Given the description of an element on the screen output the (x, y) to click on. 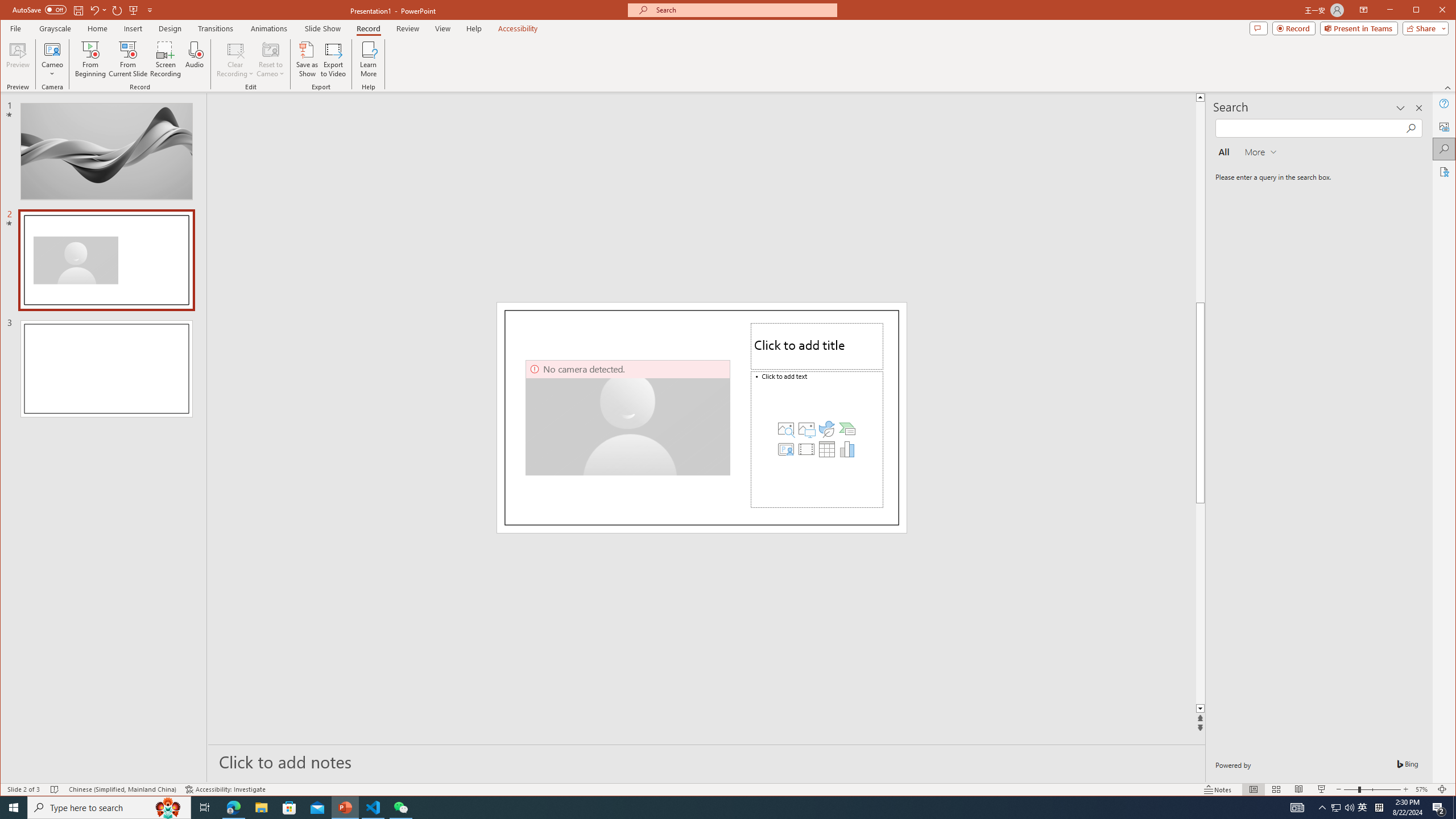
From Beginning... (90, 59)
Screen Recording (165, 59)
Decorative Locked (701, 417)
